Given the description of an element on the screen output the (x, y) to click on. 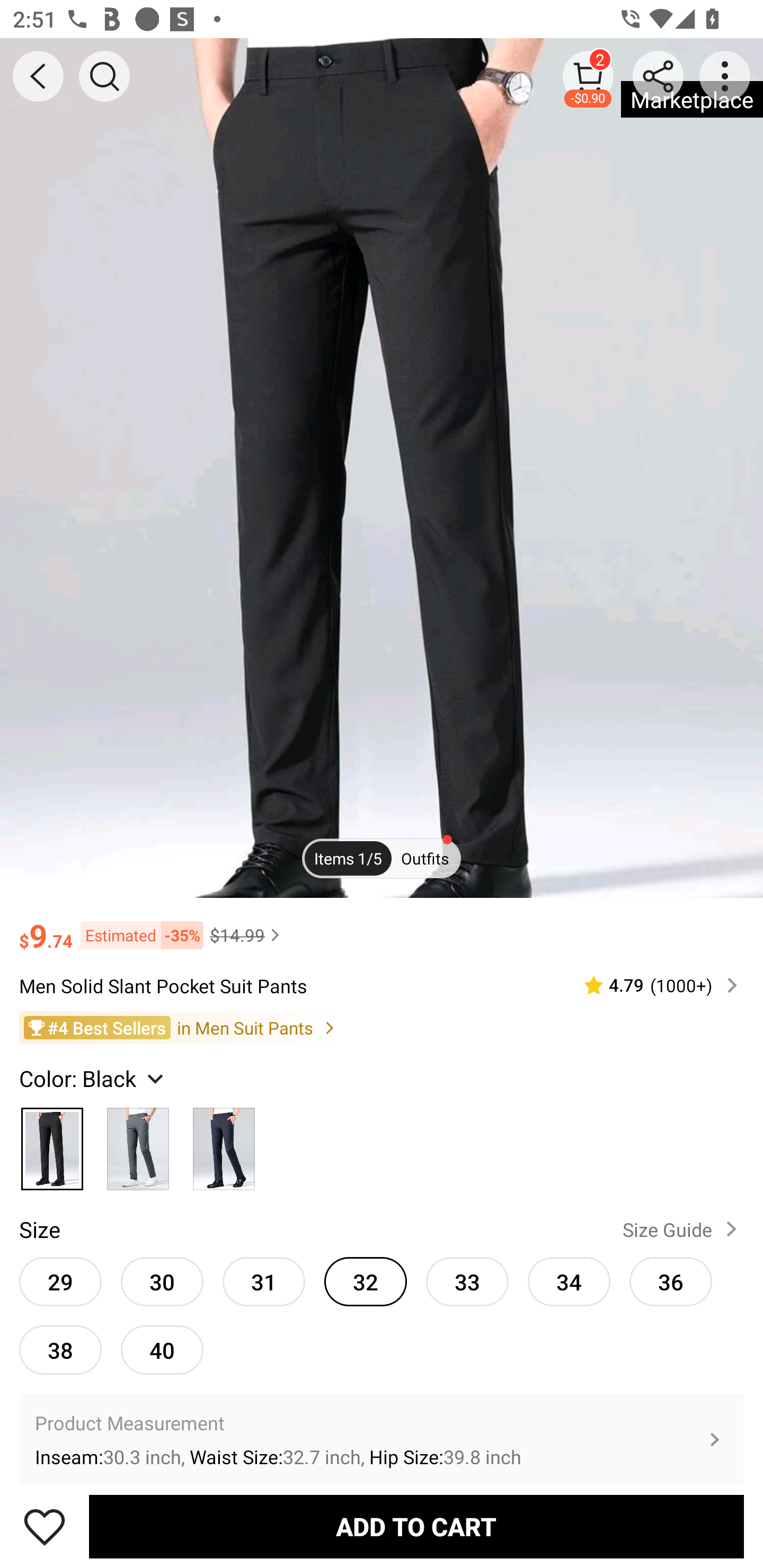
BACK (38, 75)
2 -$0.90 (588, 75)
Items 1/5 (347, 857)
Outfits (424, 857)
$9.74 Estimated -35% $14.99 (381, 927)
Estimated -35% (137, 934)
$14.99 (246, 935)
4.79 (1000‎+) (653, 984)
#4 Best Sellers in Men Suit Pants (381, 1027)
Color: Black (93, 1077)
Black (52, 1143)
Grey (138, 1143)
Navy Blue (224, 1143)
Size (39, 1228)
Size Guide (682, 1228)
29 29unselected option (60, 1281)
30 30unselected option (161, 1281)
31 31unselected option (263, 1281)
32 32selected option (365, 1281)
33 33unselected option (466, 1281)
34 34unselected option (568, 1281)
36 36unselected option (670, 1281)
38 38unselected option (60, 1349)
40 40unselected option (161, 1349)
ADD TO CART (416, 1526)
Save (44, 1526)
